Given the description of an element on the screen output the (x, y) to click on. 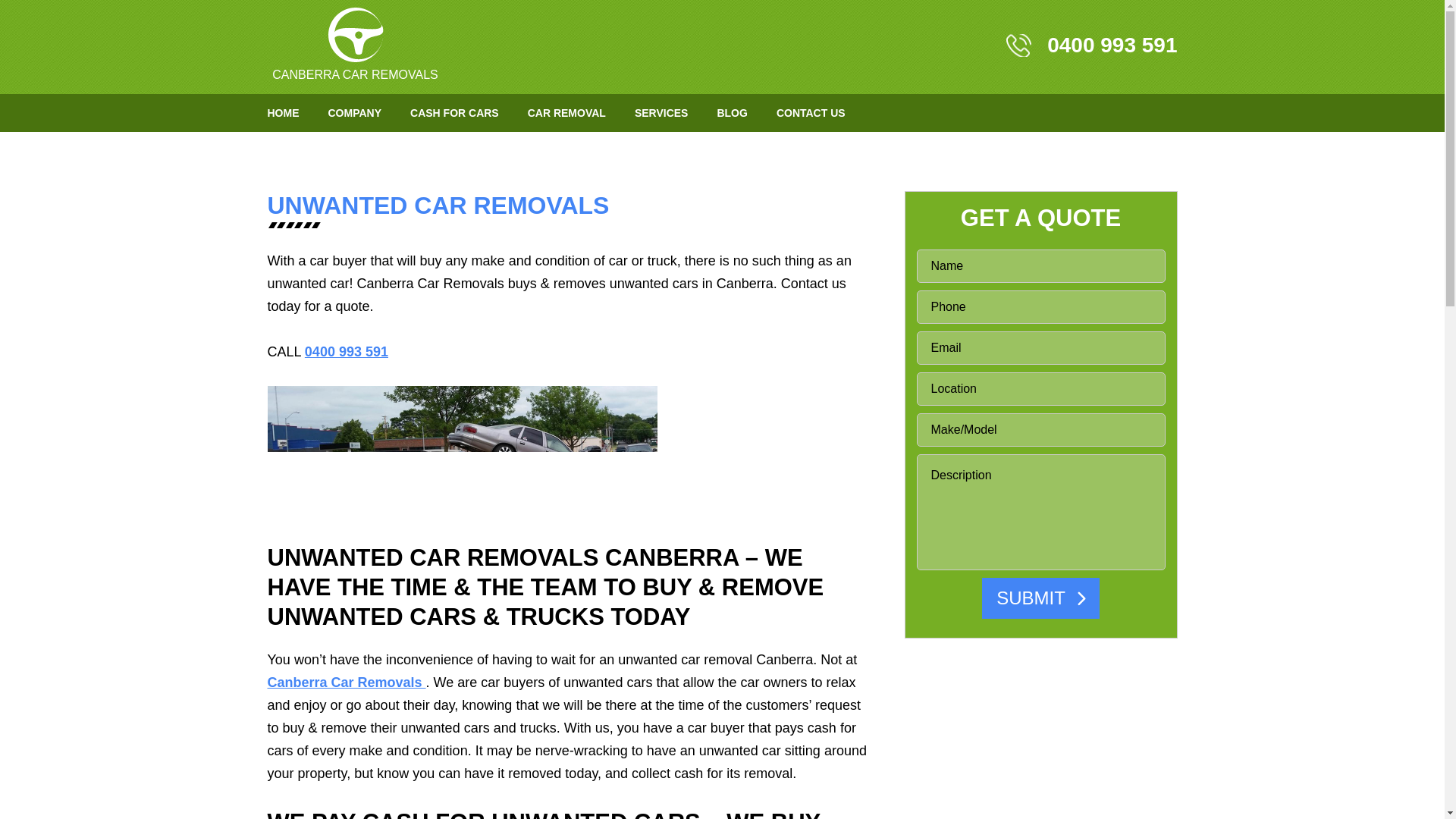
CAR REMOVAL (566, 112)
Contact Us (810, 112)
Company (354, 112)
Canberra Car Removals (345, 682)
Canberra Car Removals (354, 43)
CONTACT US (810, 112)
Canberra Car Removals (355, 34)
Car Removal (566, 112)
SERVICES (661, 112)
0400 993 591 (1091, 45)
